Given the description of an element on the screen output the (x, y) to click on. 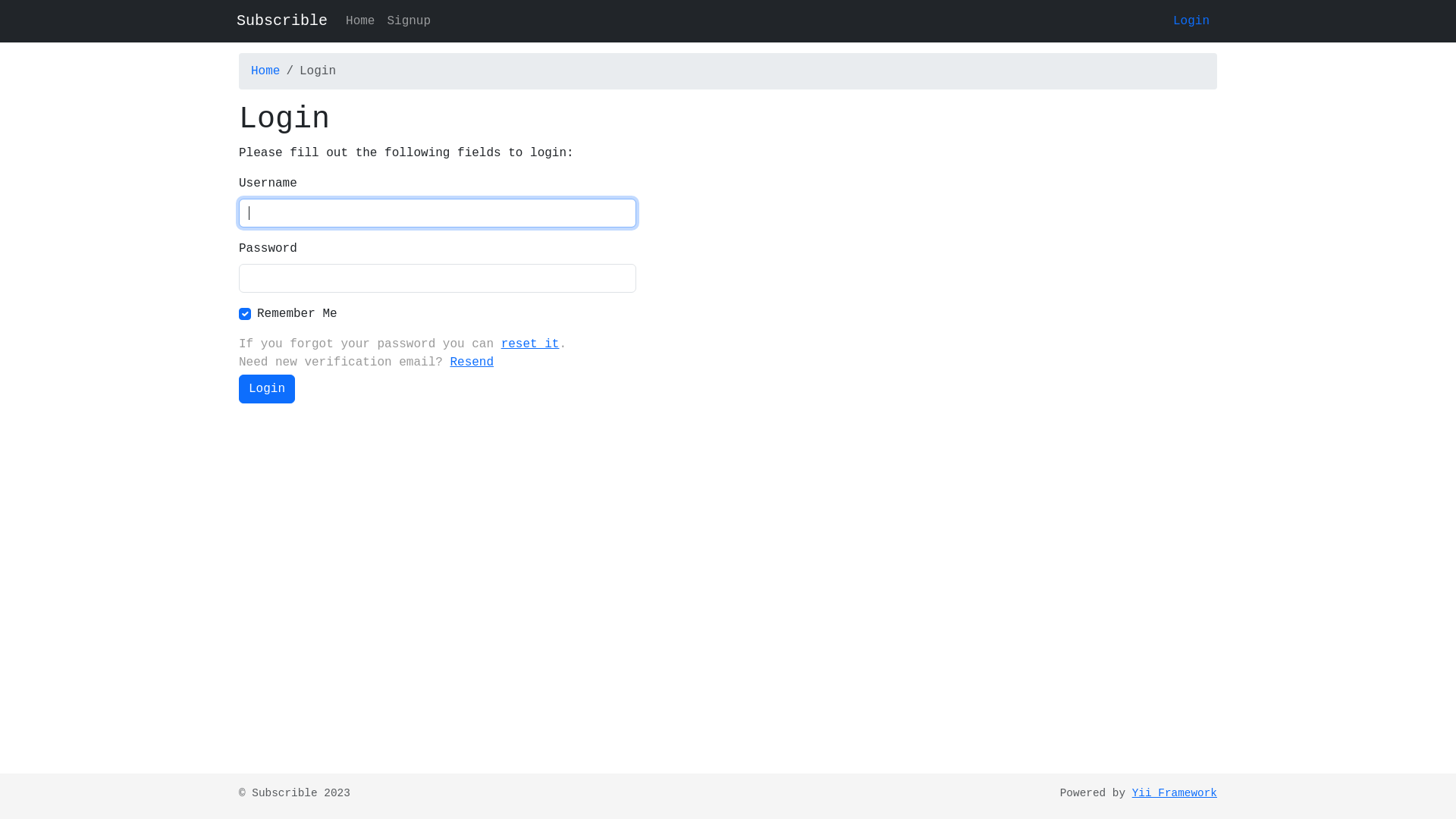
Yii Framework Element type: text (1174, 793)
Login Element type: text (1191, 20)
Subscrible Element type: text (281, 21)
Login Element type: text (266, 388)
Signup Element type: text (408, 21)
reset it Element type: text (530, 344)
Home Element type: text (265, 71)
Home Element type: text (359, 21)
Resend Element type: text (471, 362)
